Given the description of an element on the screen output the (x, y) to click on. 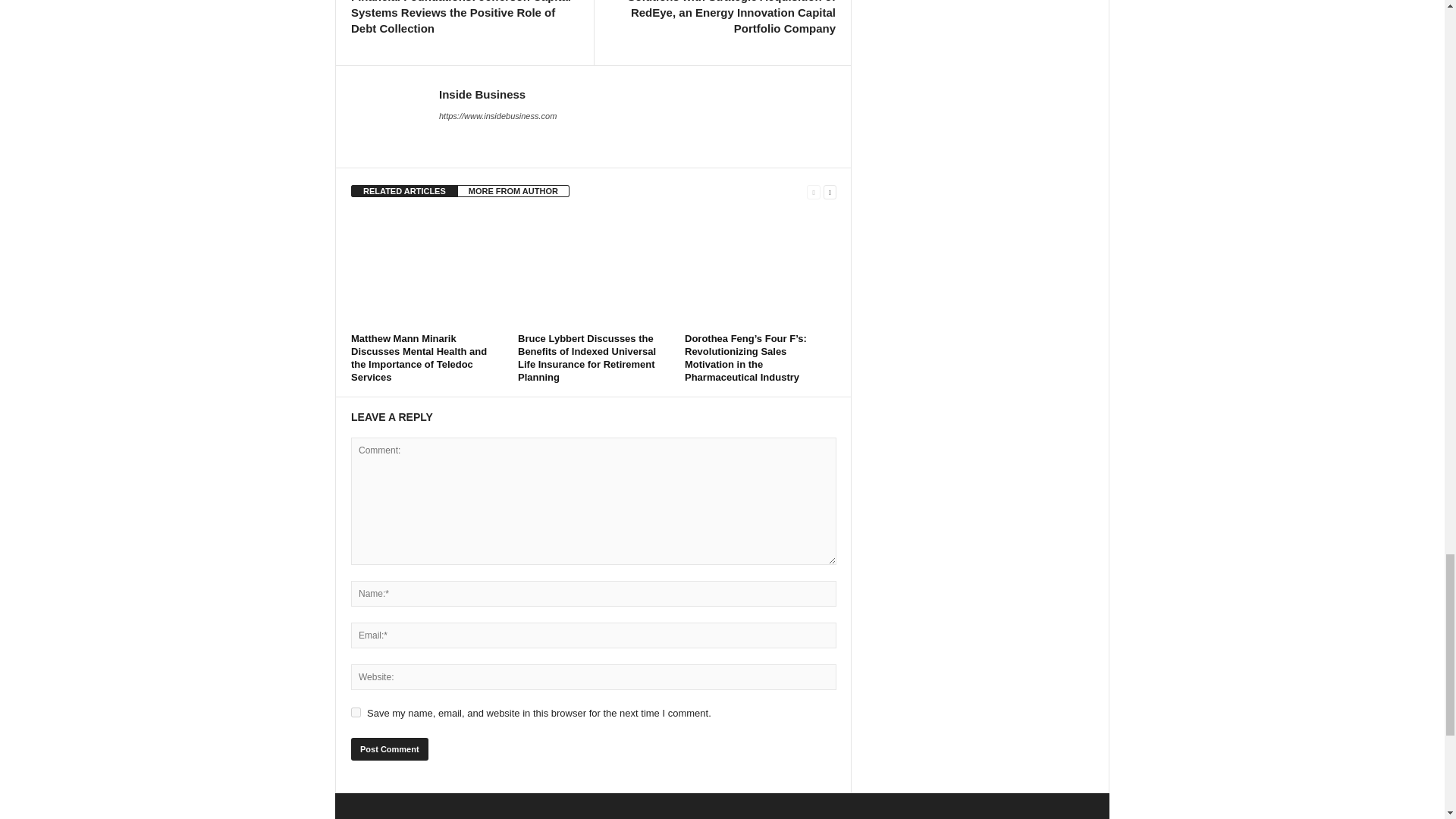
Post Comment (389, 748)
yes (355, 712)
